Given the description of an element on the screen output the (x, y) to click on. 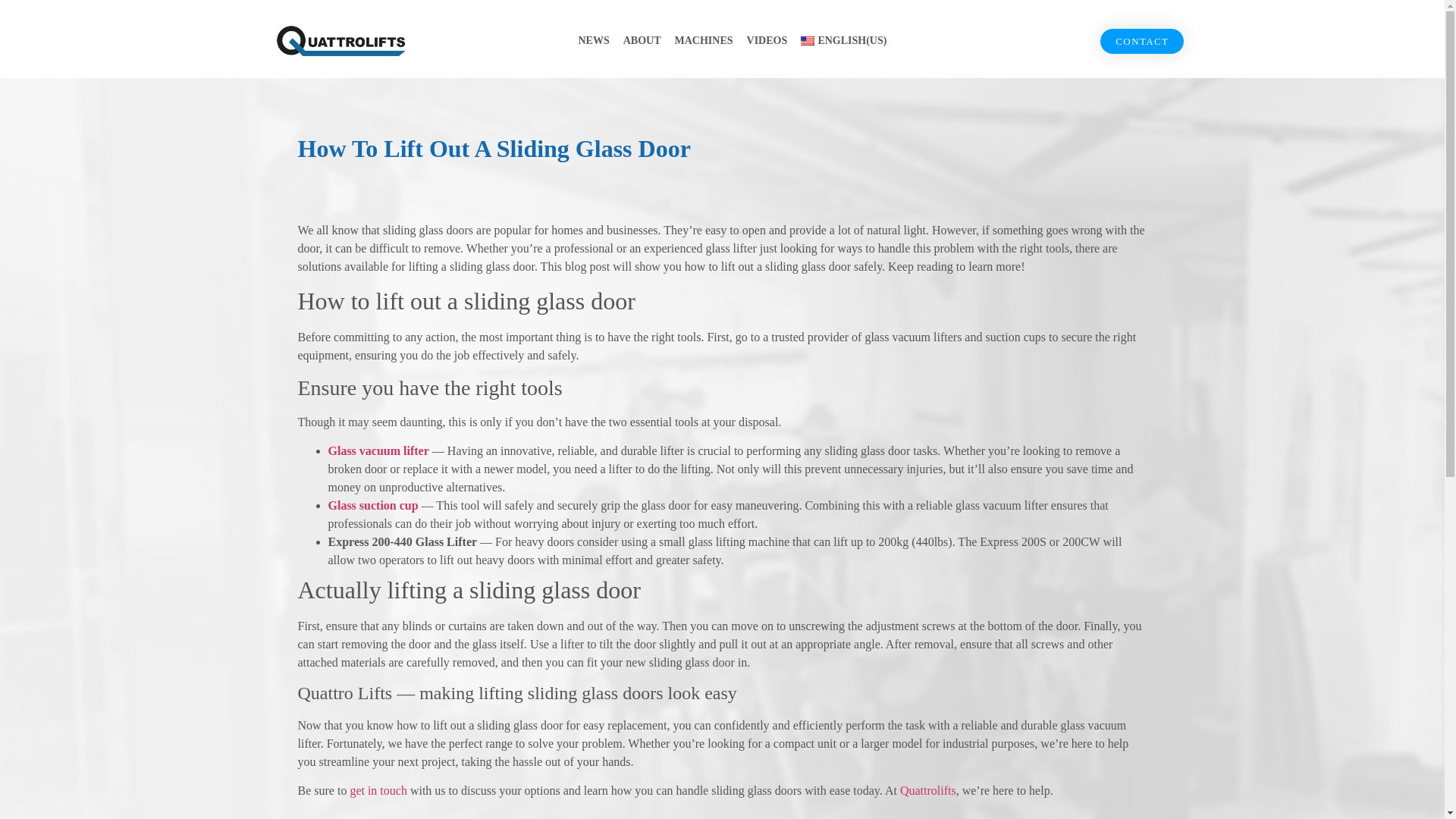
ABOUT (641, 40)
MACHINES (703, 40)
VIDEOS (767, 40)
NEWS (593, 40)
